Given the description of an element on the screen output the (x, y) to click on. 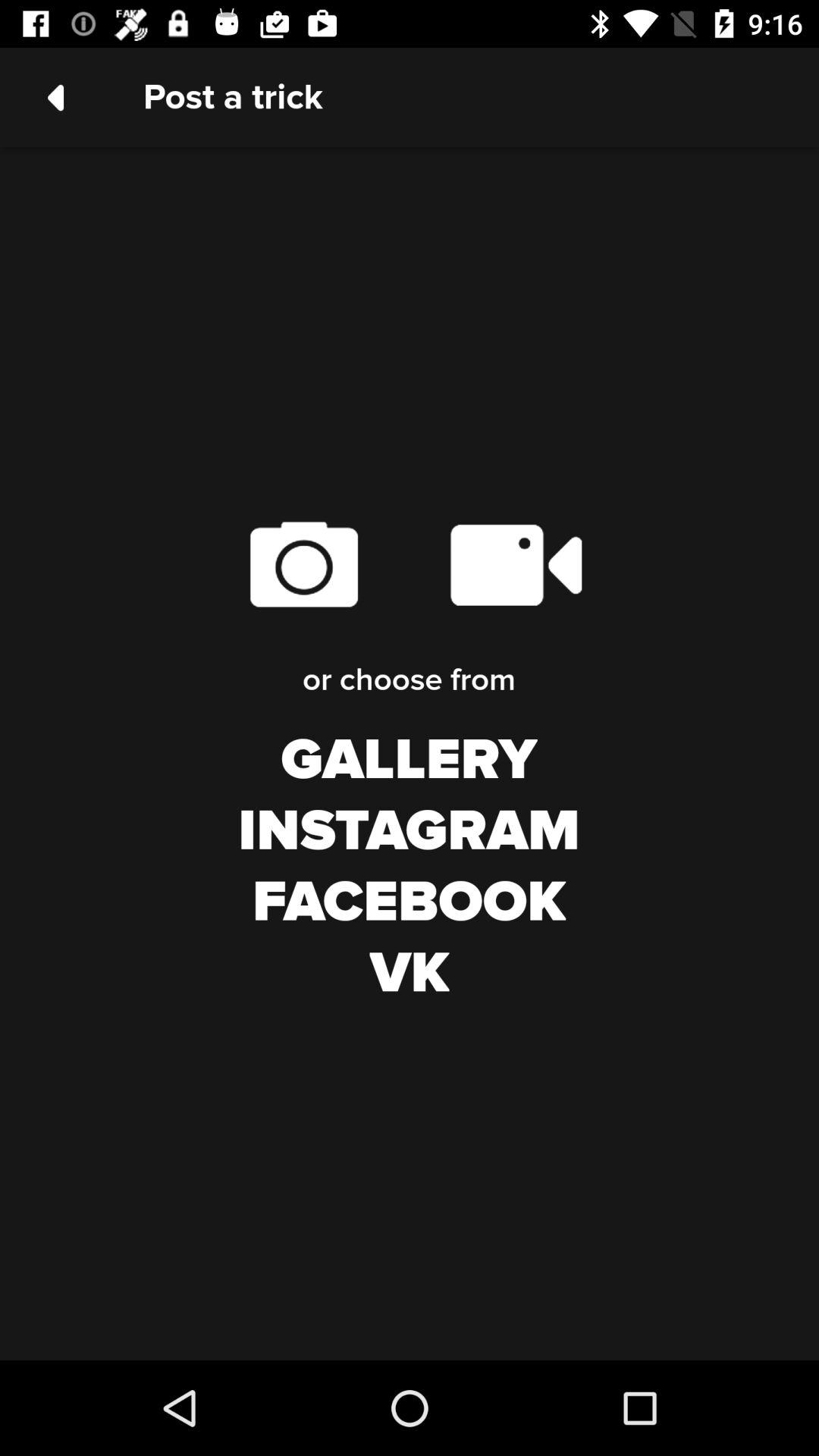
take a photo (303, 564)
